Given the description of an element on the screen output the (x, y) to click on. 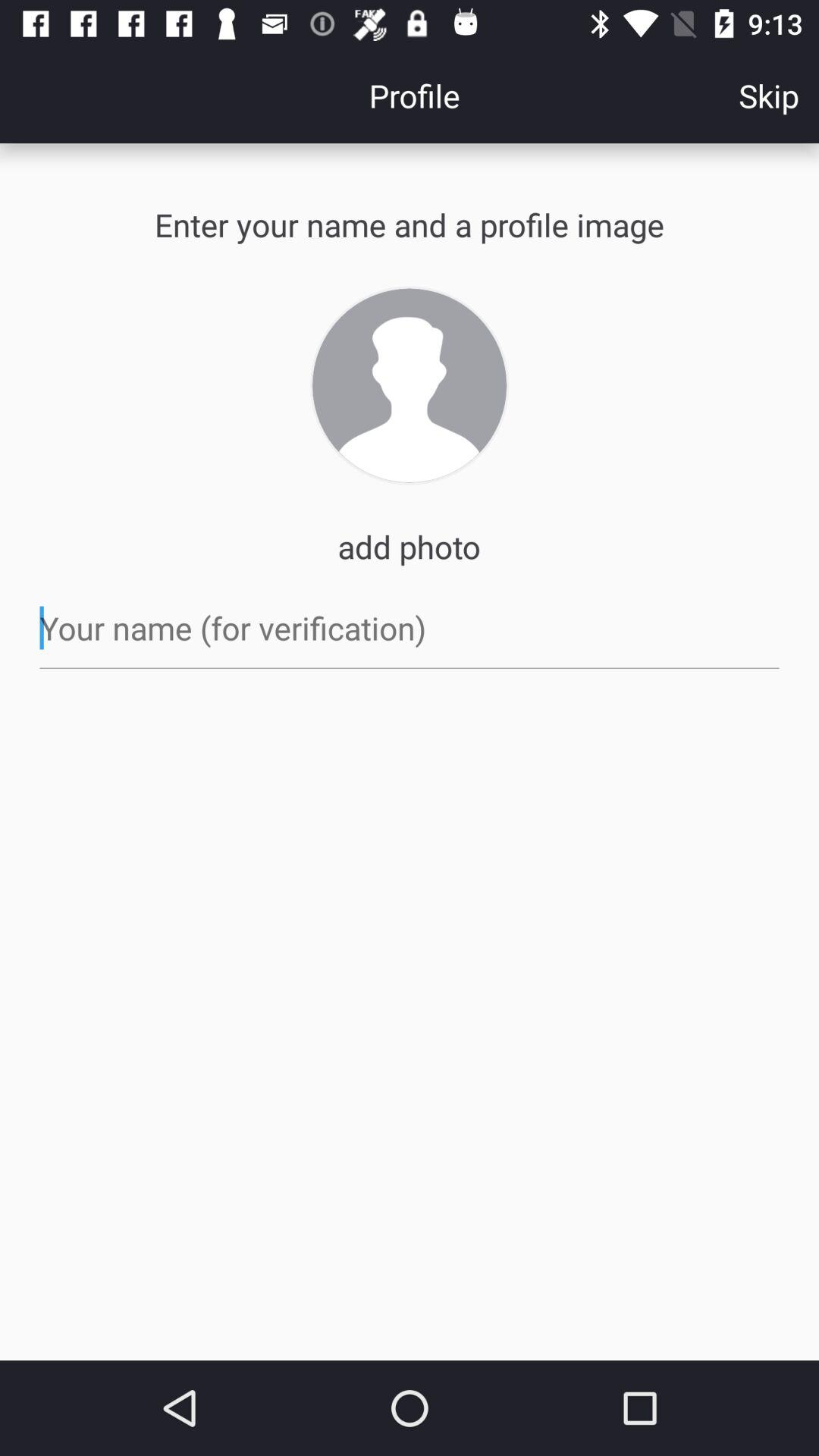
jump until the skip item (768, 95)
